Given the description of an element on the screen output the (x, y) to click on. 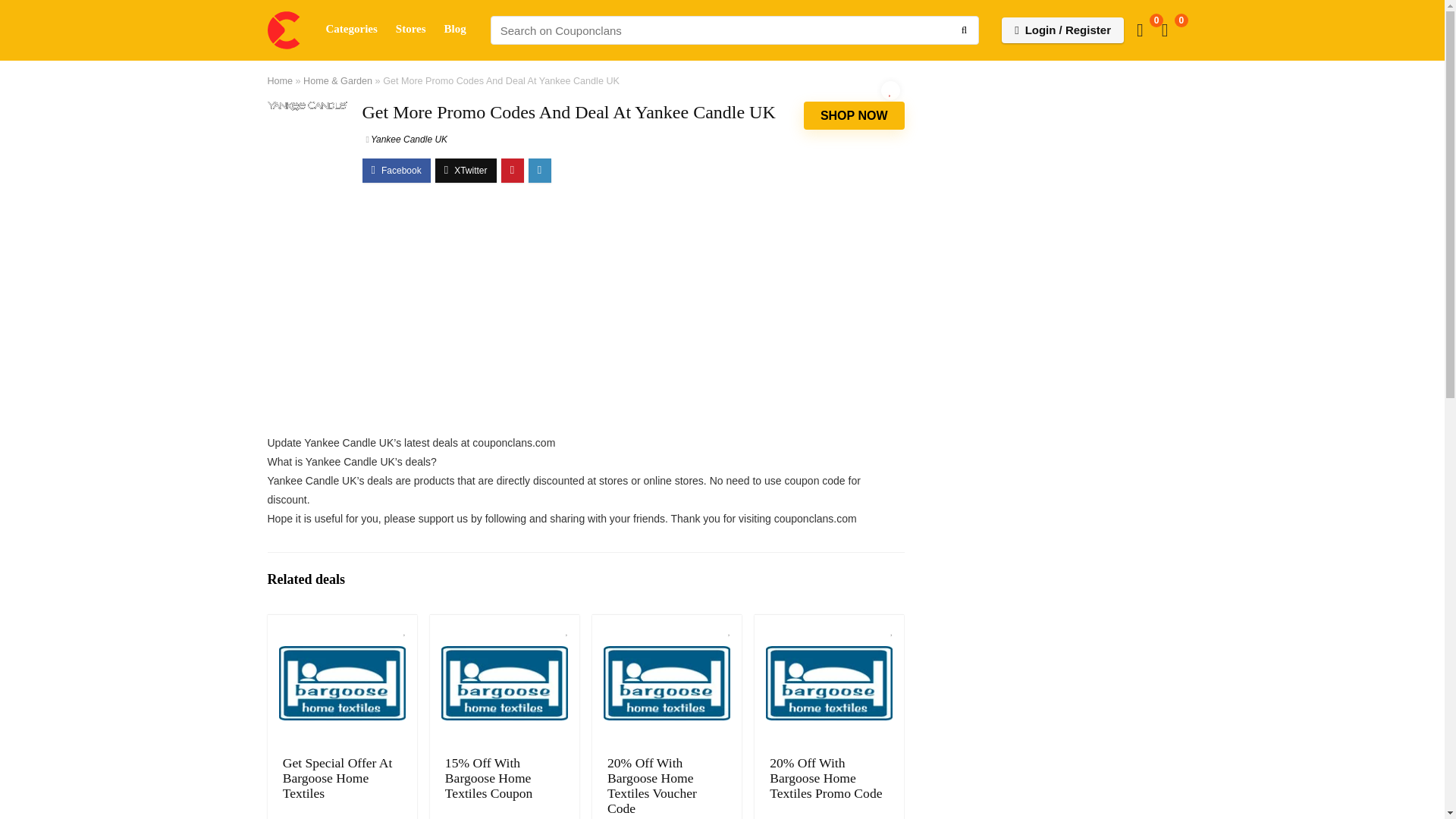
Get Special Offer At Bargoose Home Textiles (337, 777)
SHOP NOW (853, 115)
Home (279, 81)
Blog (455, 29)
Stores (411, 29)
Yankee Candle UK (405, 139)
Categories (352, 29)
